Given the description of an element on the screen output the (x, y) to click on. 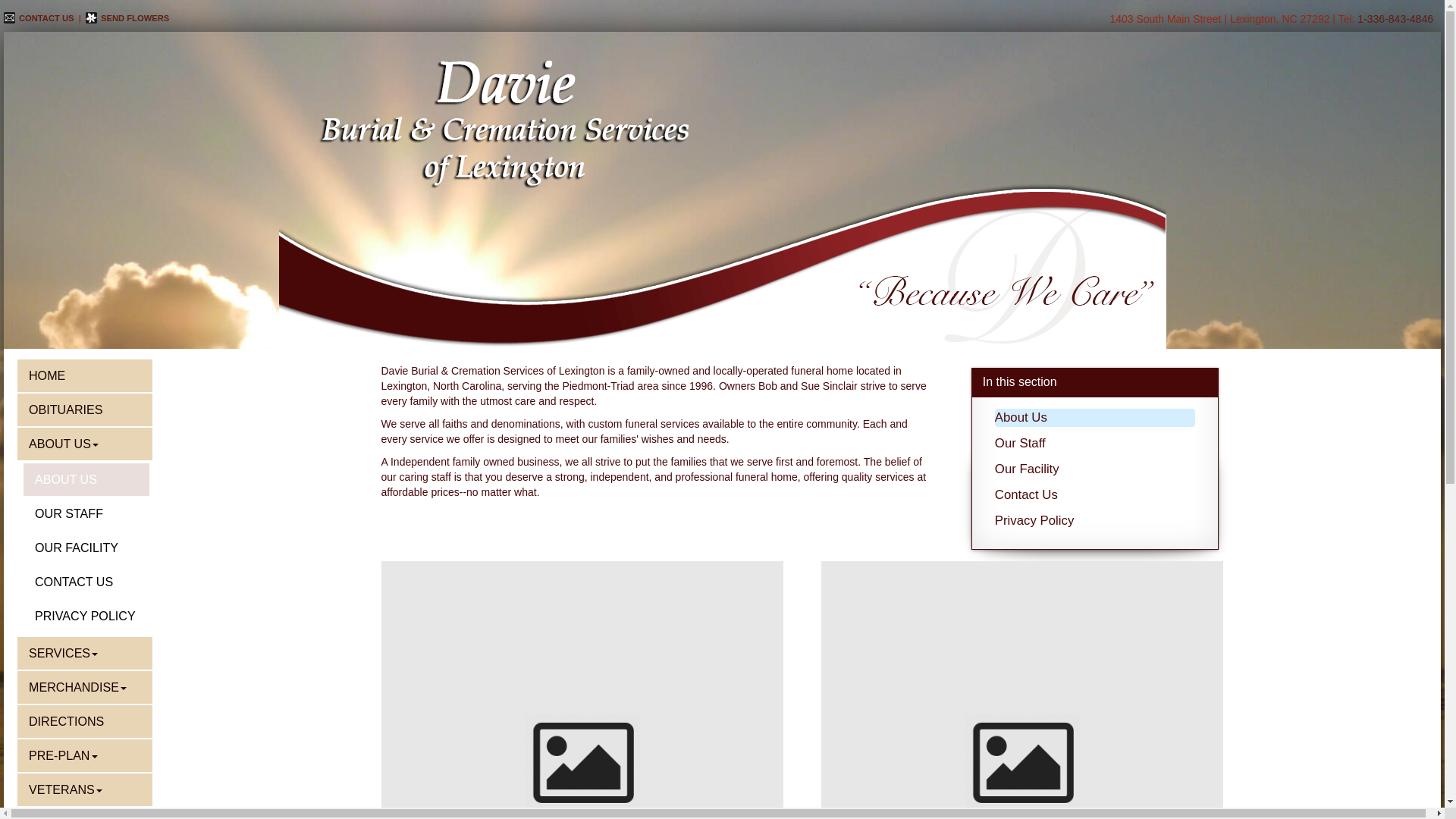
SEND FLOWERS (126, 17)
CONTACT US (39, 17)
1-336-843-4846 (1394, 19)
